Given the description of an element on the screen output the (x, y) to click on. 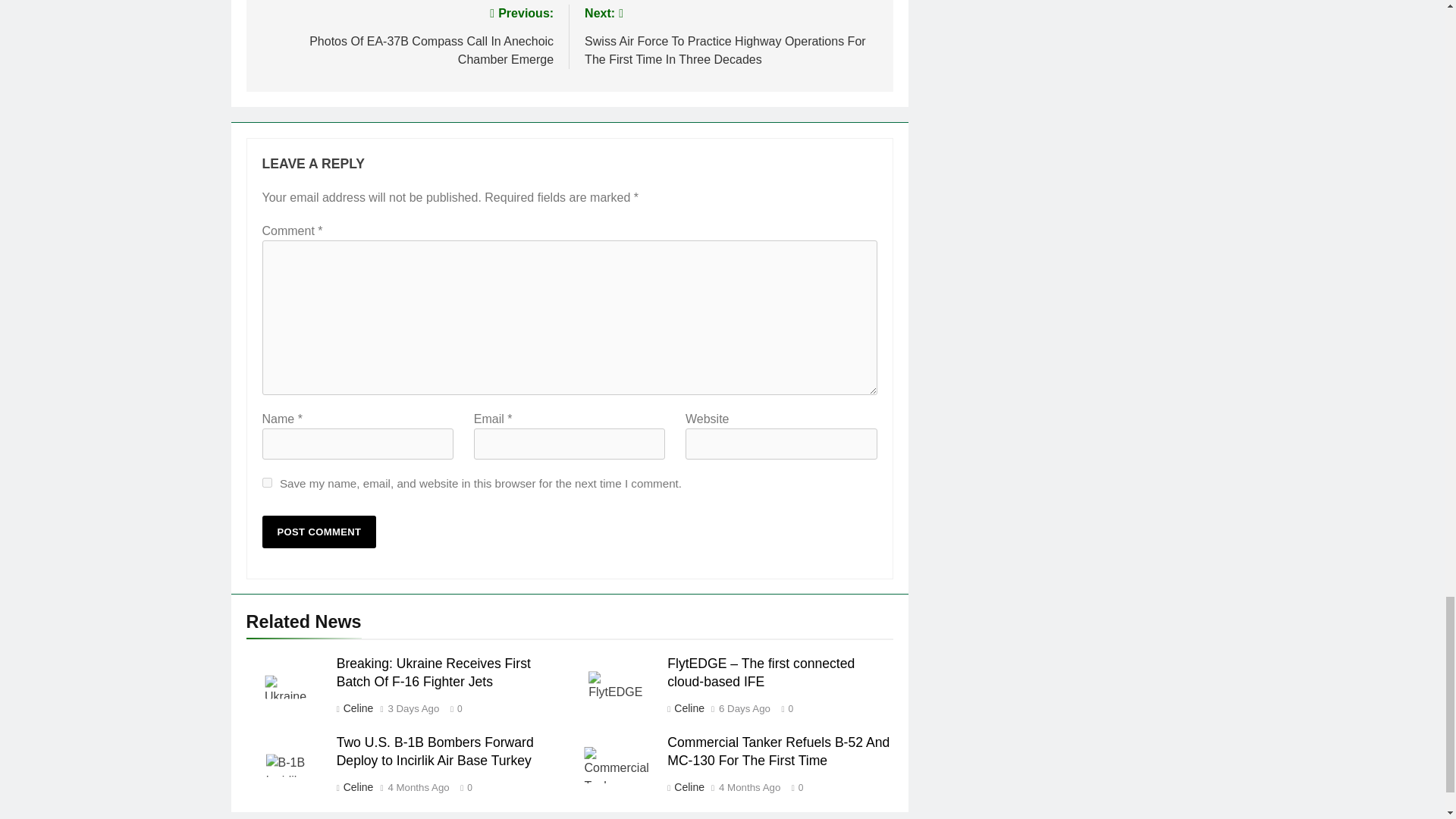
Post Comment (319, 531)
yes (267, 482)
